Given the description of an element on the screen output the (x, y) to click on. 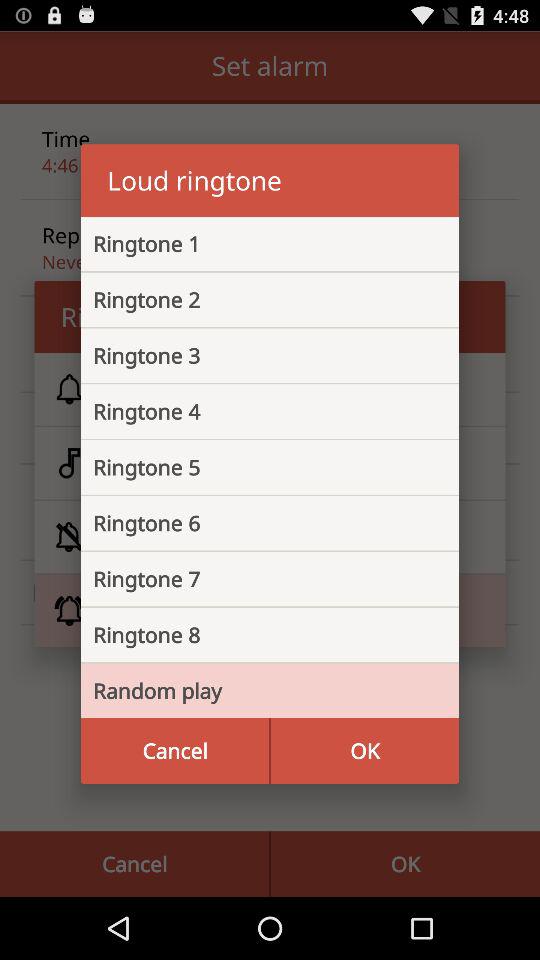
click icon above the ringtone 5 item (254, 411)
